Given the description of an element on the screen output the (x, y) to click on. 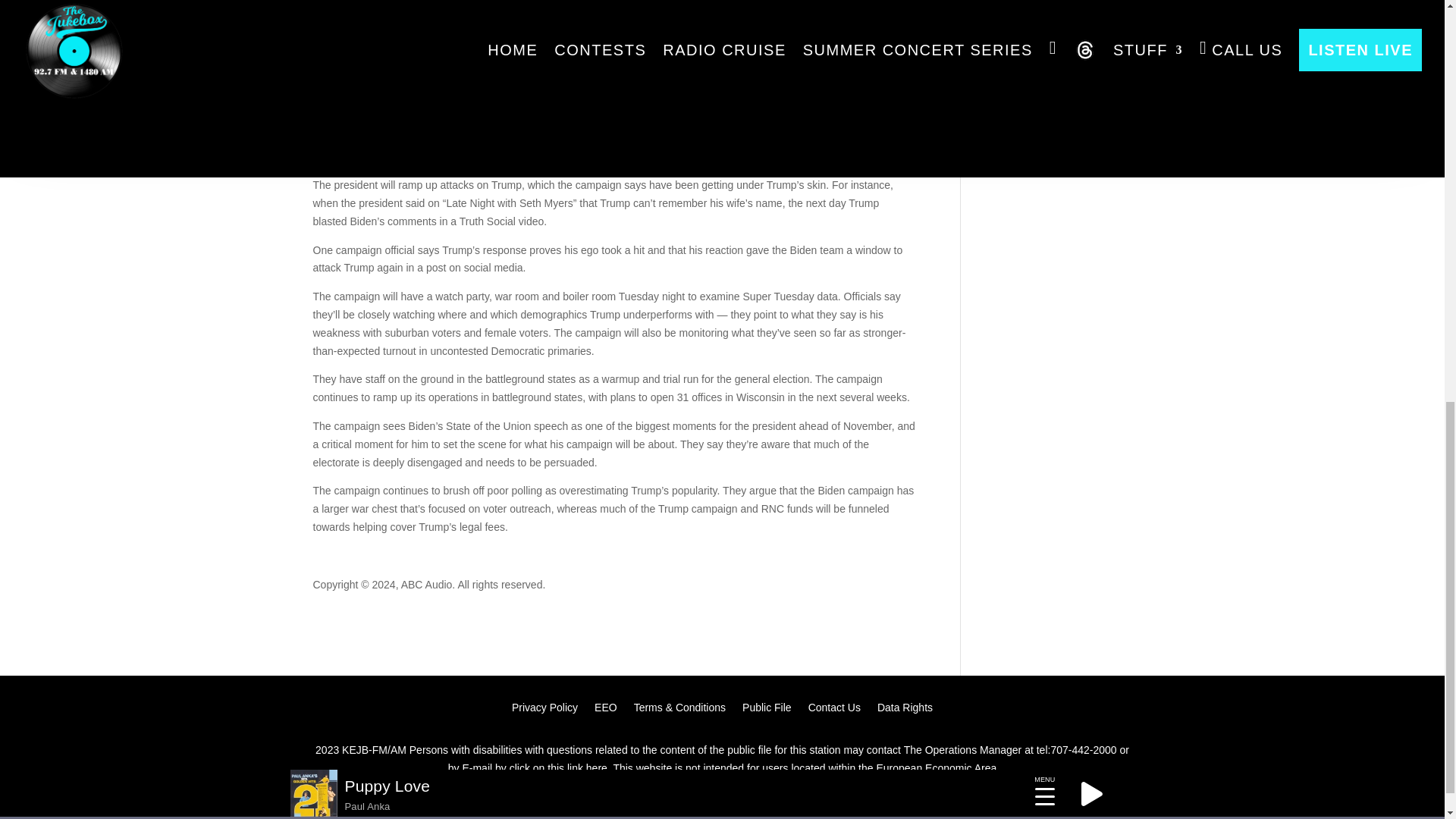
Privacy Policy (545, 710)
EEO (605, 710)
